Given the description of an element on the screen output the (x, y) to click on. 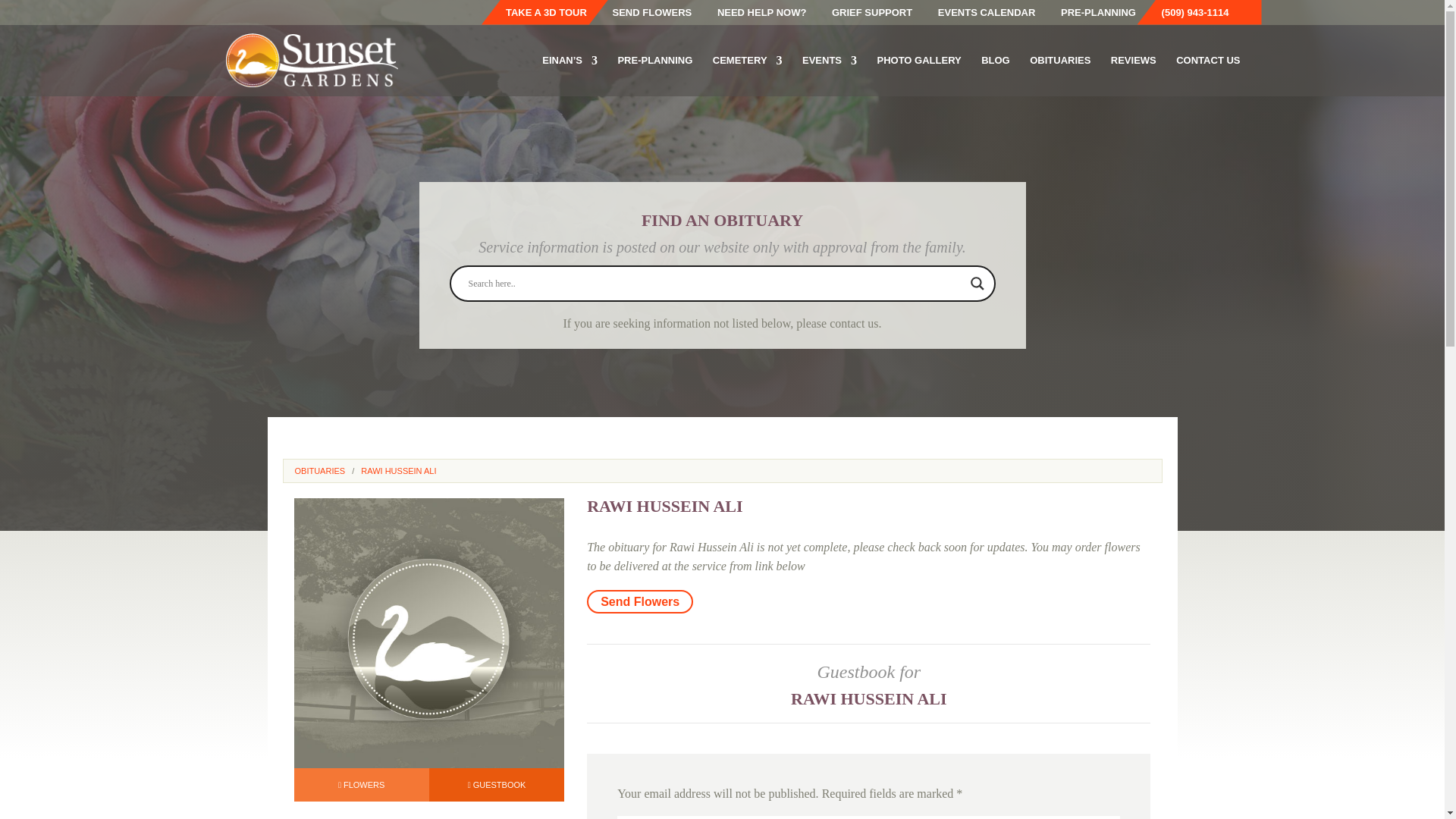
TAKE A 3D TOUR (551, 16)
PRE-PLANNING (655, 74)
NEED HELP NOW? (767, 16)
Go to Rawi Hussein Ali. (398, 480)
CEMETERY (748, 74)
EVENTS CALENDAR (991, 16)
GRIEF SUPPORT (877, 16)
SEND FLOWERS (657, 16)
Go to Obituaries. (319, 480)
PRE-PLANNING (1104, 16)
